Given the description of an element on the screen output the (x, y) to click on. 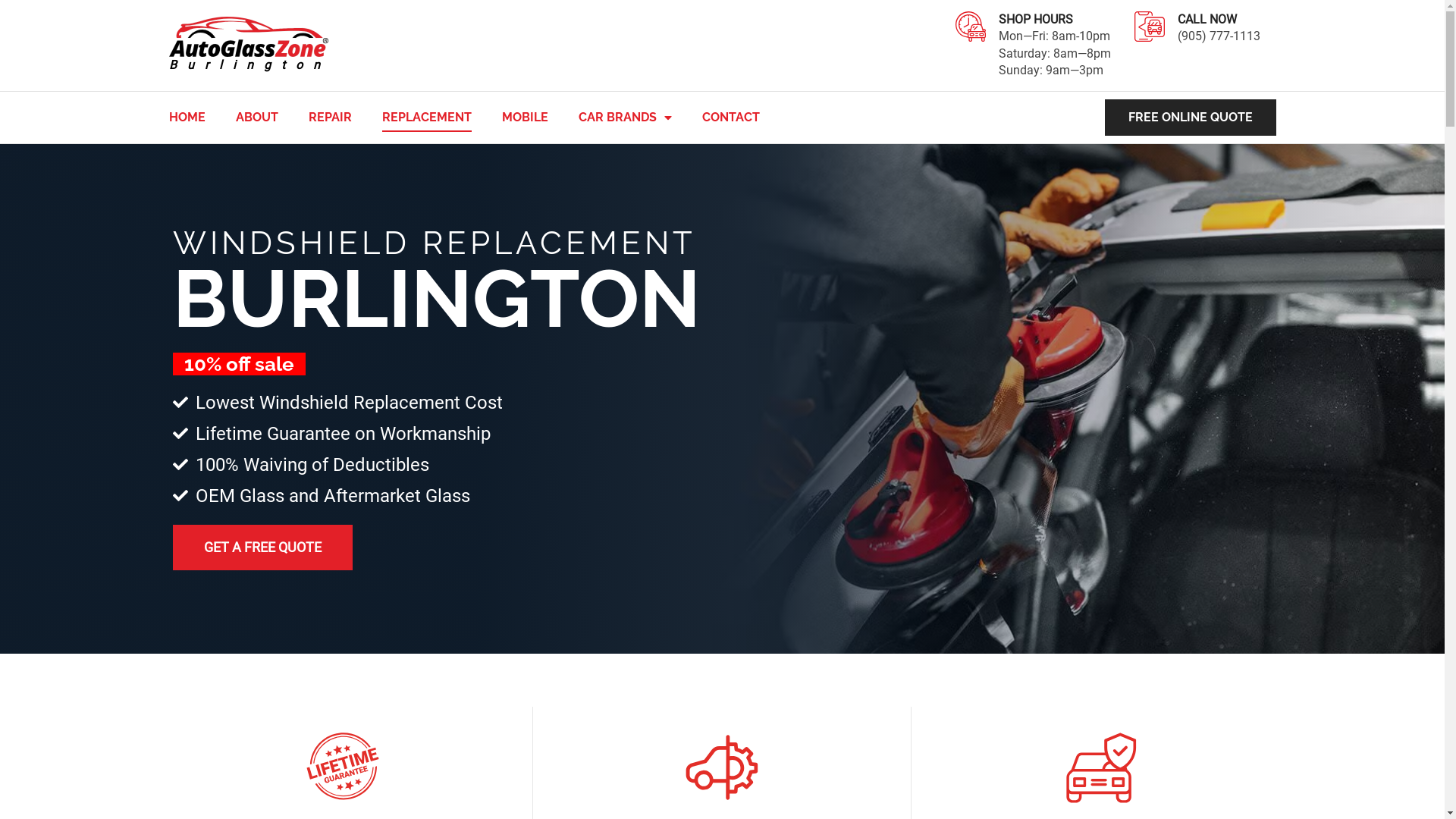
REPAIR Element type: text (329, 116)
ABOUT Element type: text (256, 116)
(905) 777-1113 Element type: text (1226, 44)
CAR BRANDS Element type: text (624, 116)
REPLACEMENT Element type: text (426, 116)
HOME Element type: text (186, 116)
MOBILE Element type: text (525, 116)
CONTACT Element type: text (730, 116)
GET A FREE QUOTE Element type: text (262, 547)
FREE ONLINE QUOTE Element type: text (1189, 117)
